Given the description of an element on the screen output the (x, y) to click on. 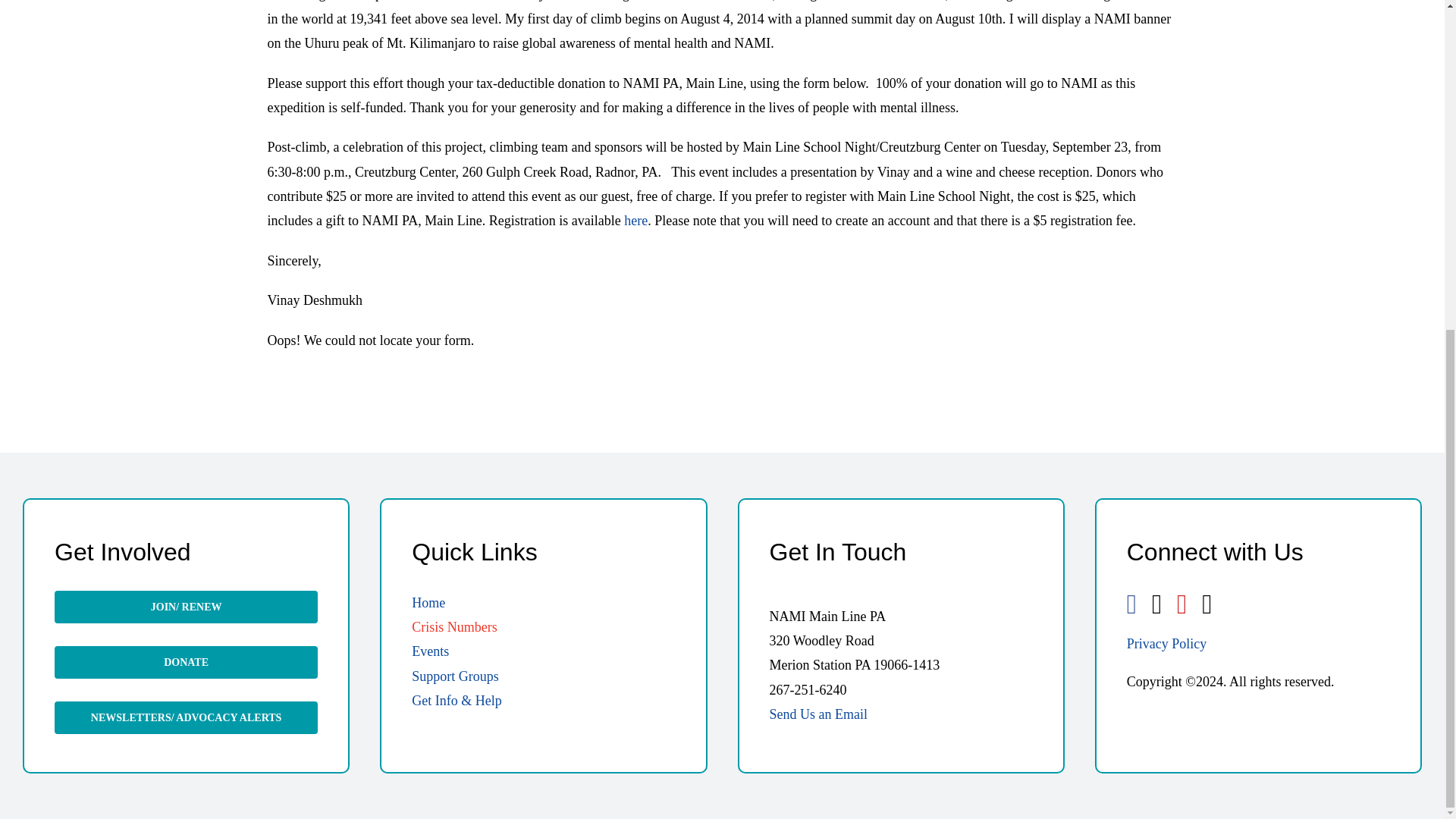
here (635, 220)
